Given the description of an element on the screen output the (x, y) to click on. 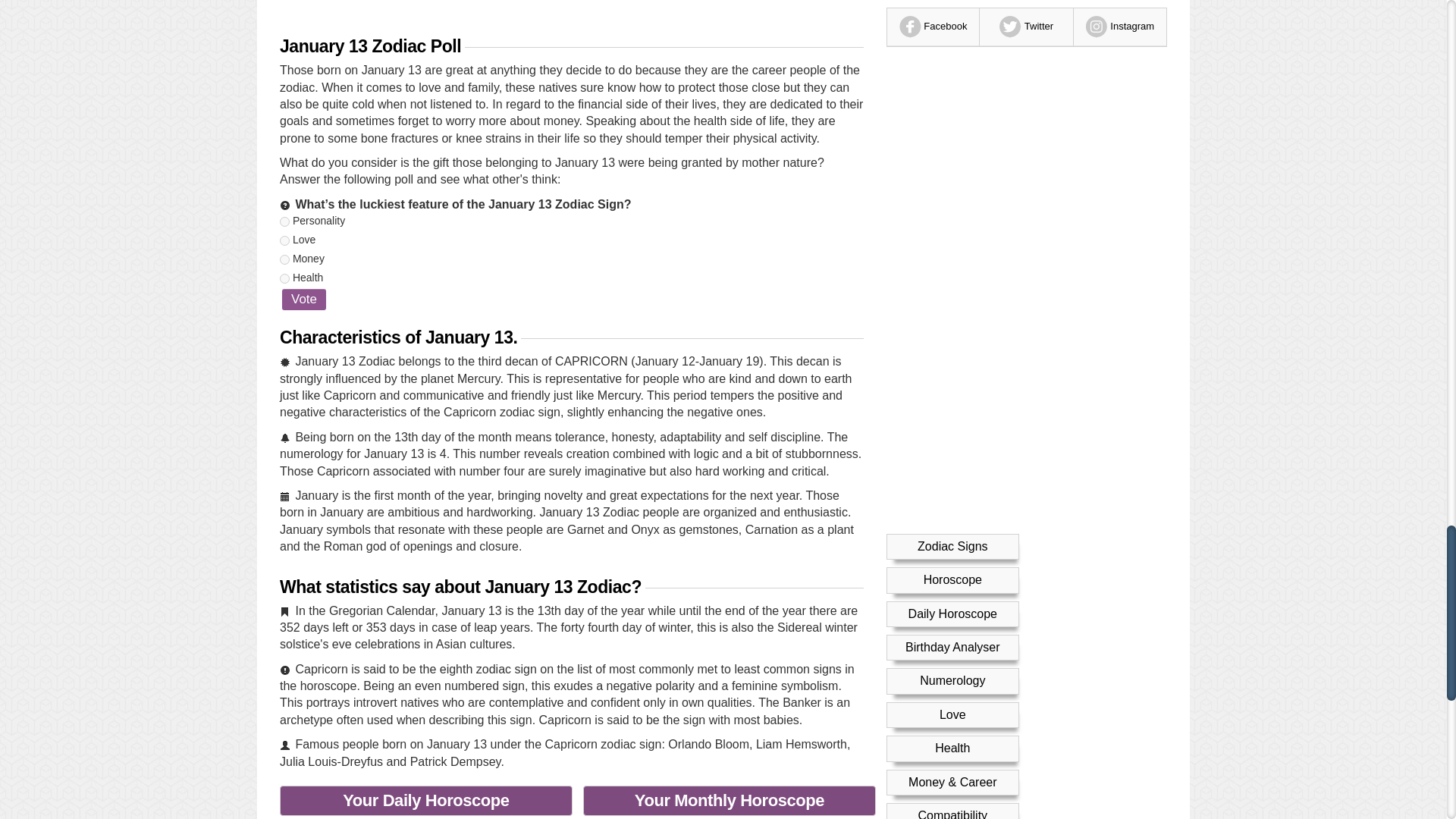
q3 (284, 259)
q4 (284, 278)
Vote (304, 299)
q2 (284, 240)
q1 (284, 221)
